Given the description of an element on the screen output the (x, y) to click on. 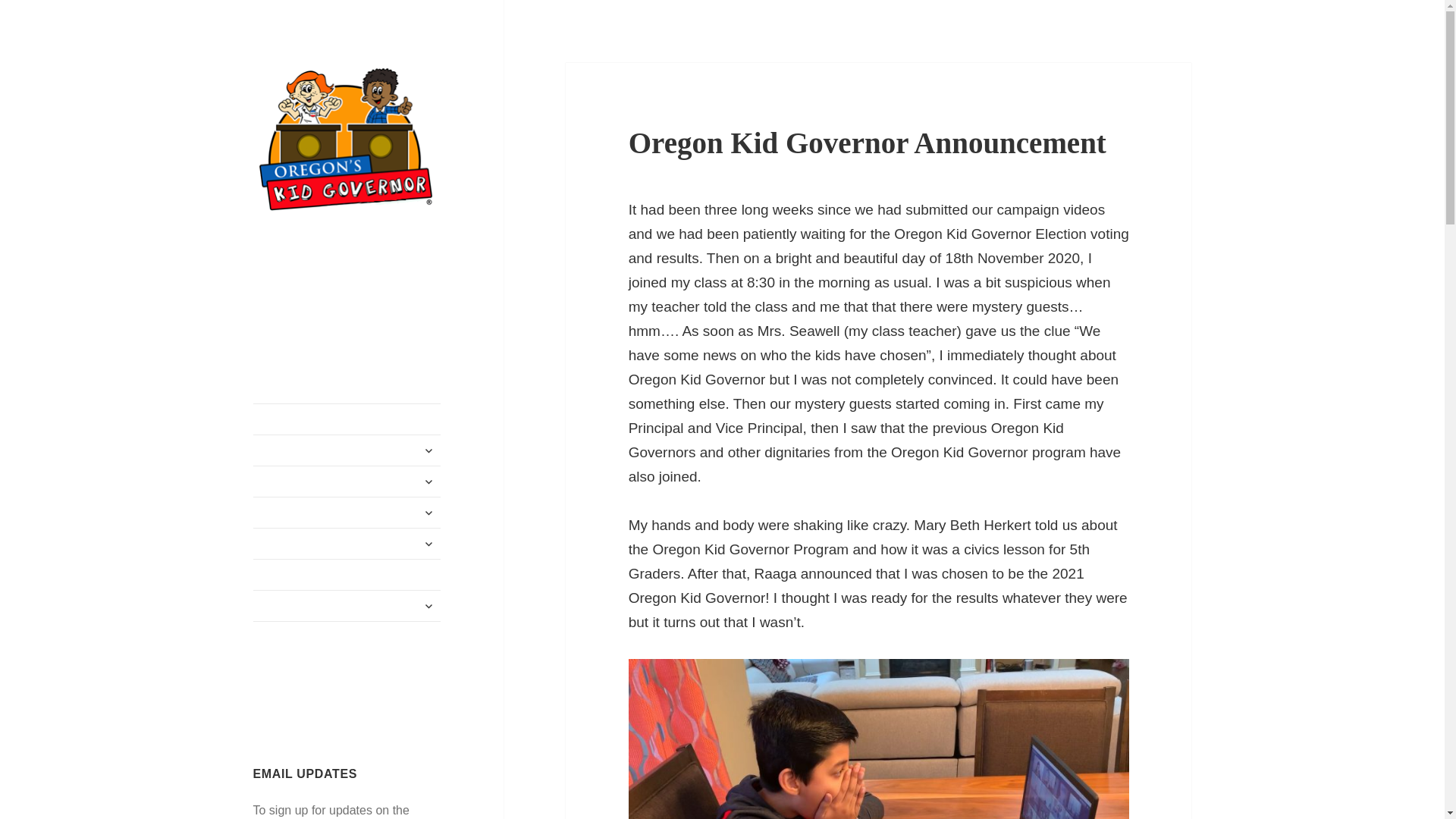
expand child menu (428, 450)
2024 ORKG Zoya (347, 512)
expand child menu (428, 543)
Home (347, 419)
Oregon's Kid Governor (312, 255)
expand child menu (428, 512)
About (347, 450)
expand child menu (428, 481)
Past ORKGs (347, 543)
